Given the description of an element on the screen output the (x, y) to click on. 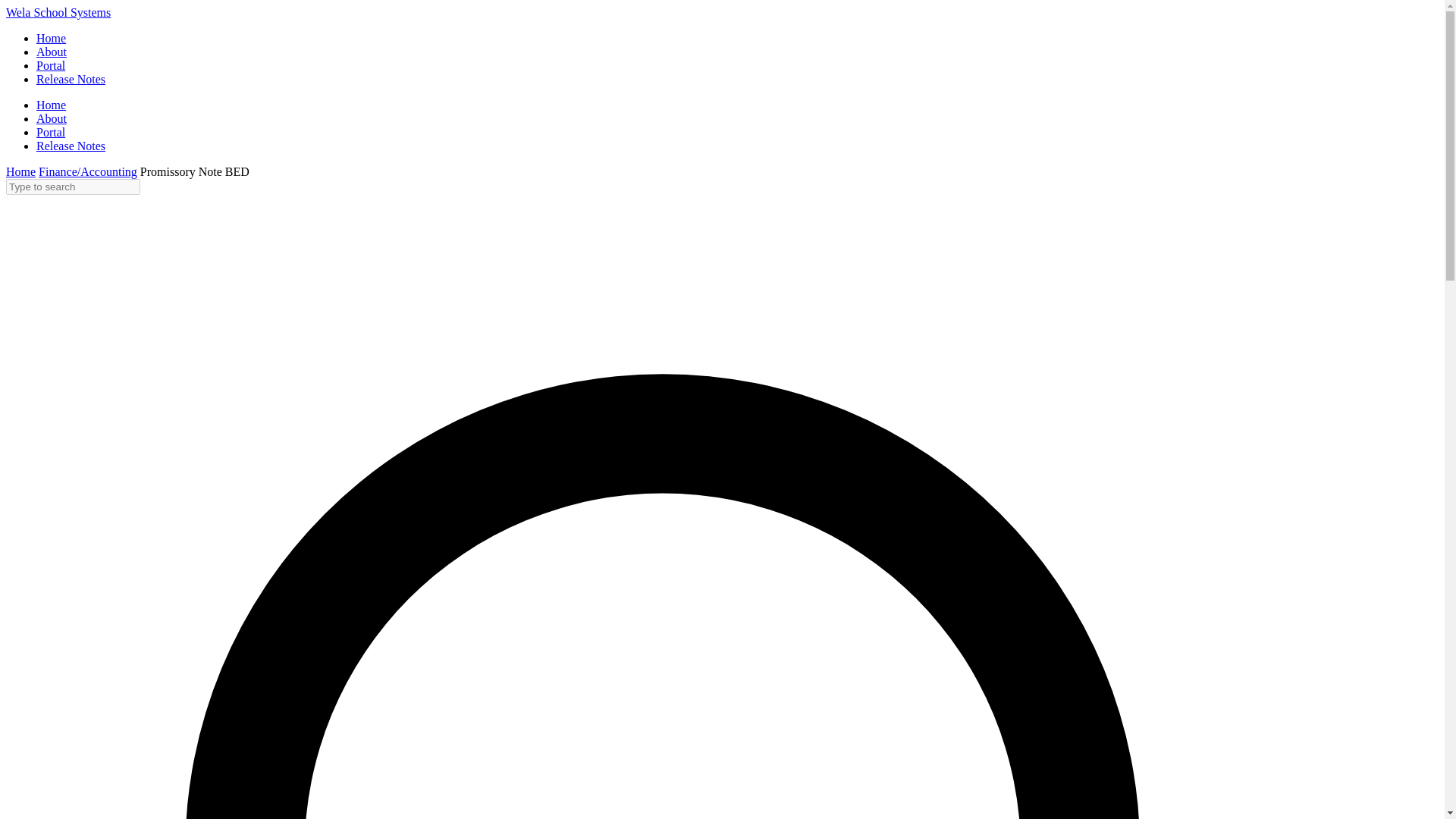
Home (50, 38)
Release Notes (70, 145)
About (51, 51)
About (51, 118)
Home (19, 171)
Wela School Systems (57, 11)
Portal (50, 65)
Home (50, 104)
Release Notes (70, 78)
Portal (50, 132)
